Given the description of an element on the screen output the (x, y) to click on. 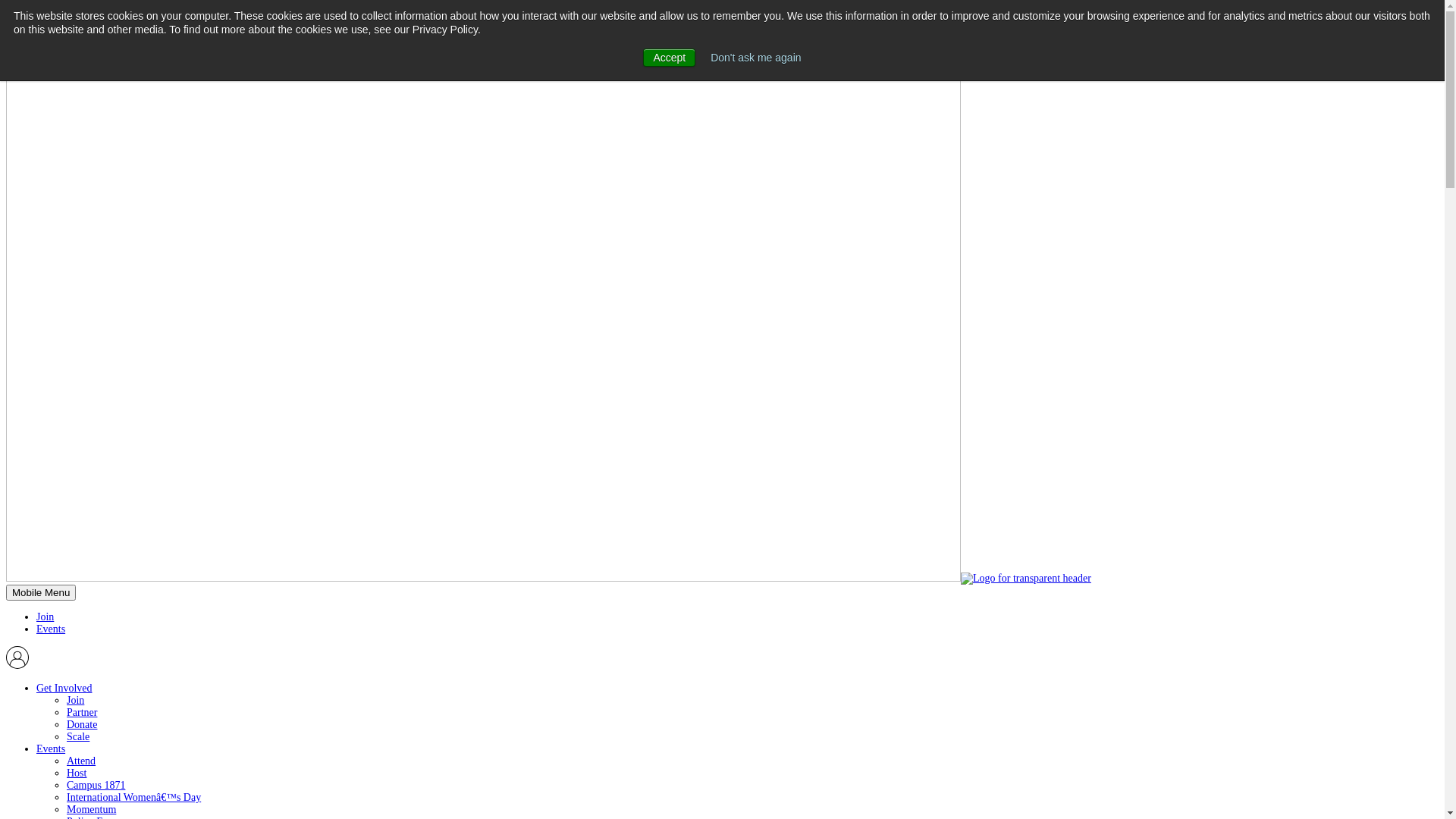
Partner Element type: text (81, 712)
Campus 1871 Element type: text (95, 784)
Scale Element type: text (77, 736)
Donate Element type: text (81, 724)
Events Element type: text (50, 628)
Host Element type: text (76, 772)
Momentum Element type: text (91, 809)
Get Involved Element type: text (63, 687)
Don't ask me again Element type: text (755, 57)
Join Element type: text (44, 616)
Accept Element type: text (669, 57)
Join Element type: text (75, 700)
Events Element type: text (50, 748)
Mobile Menu Element type: text (40, 592)
Attend Element type: text (80, 760)
